Given the description of an element on the screen output the (x, y) to click on. 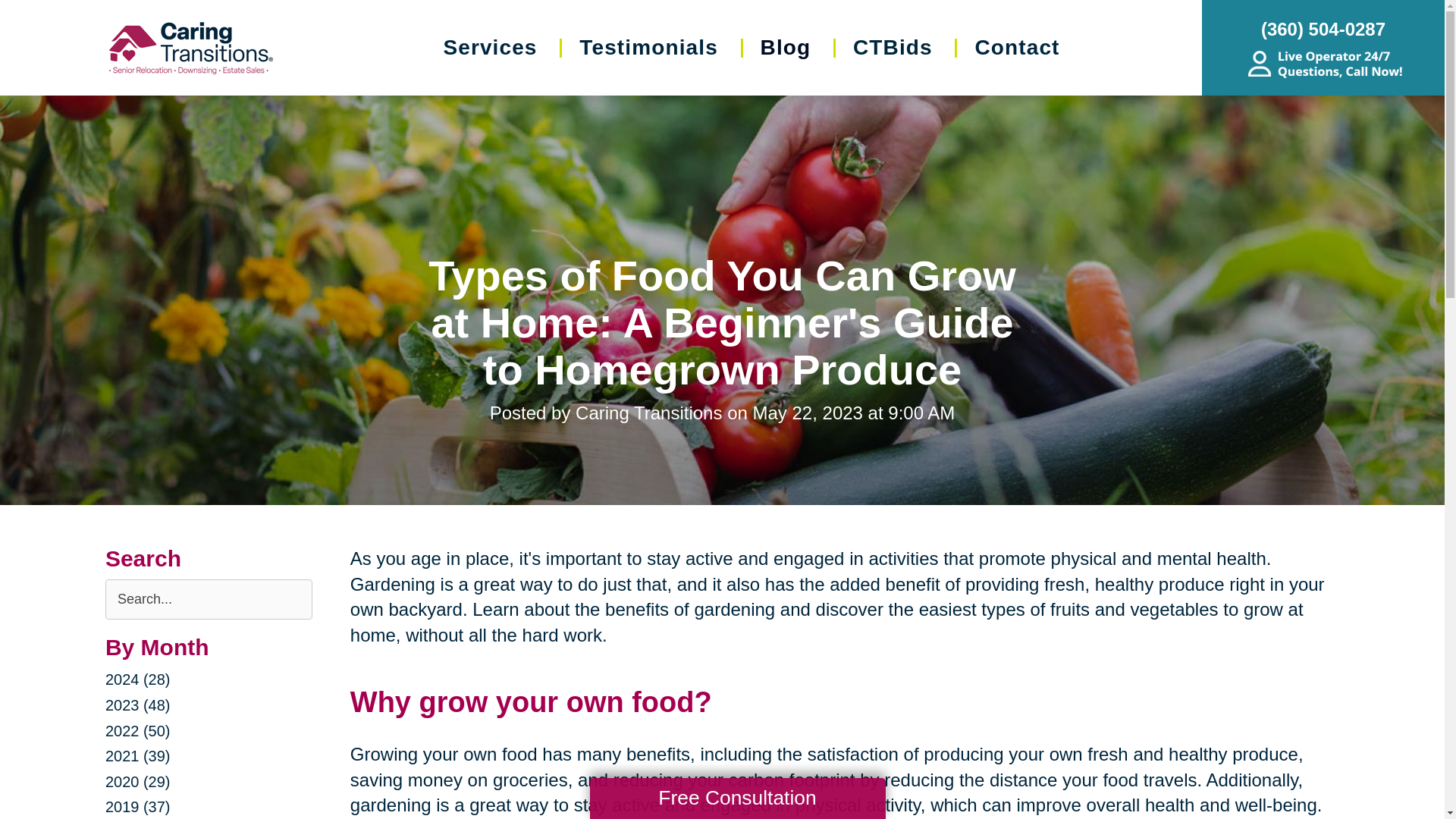
Blog (785, 47)
Search (21, 7)
Services (489, 47)
CTBids (893, 47)
Contact (1016, 47)
Testimonials (648, 47)
Search the blog (208, 599)
